Given the description of an element on the screen output the (x, y) to click on. 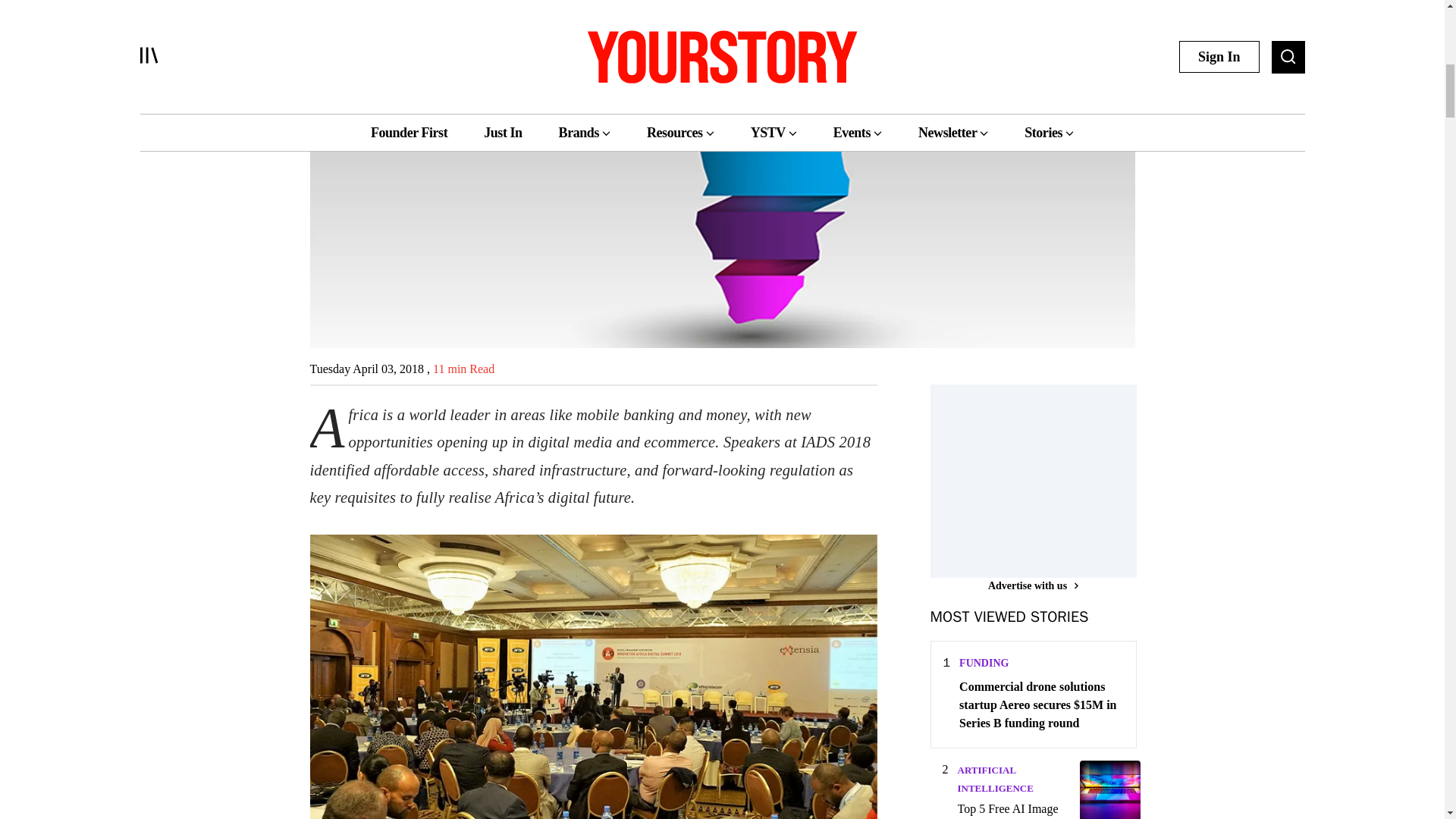
Top 5 Free AI Image Generators To Elevate Your Designs (1013, 809)
3rd party ad content (1043, 479)
FUNDING (984, 663)
Advertise with us (1032, 585)
ARTIFICIAL INTELLIGENCE (994, 778)
